Given the description of an element on the screen output the (x, y) to click on. 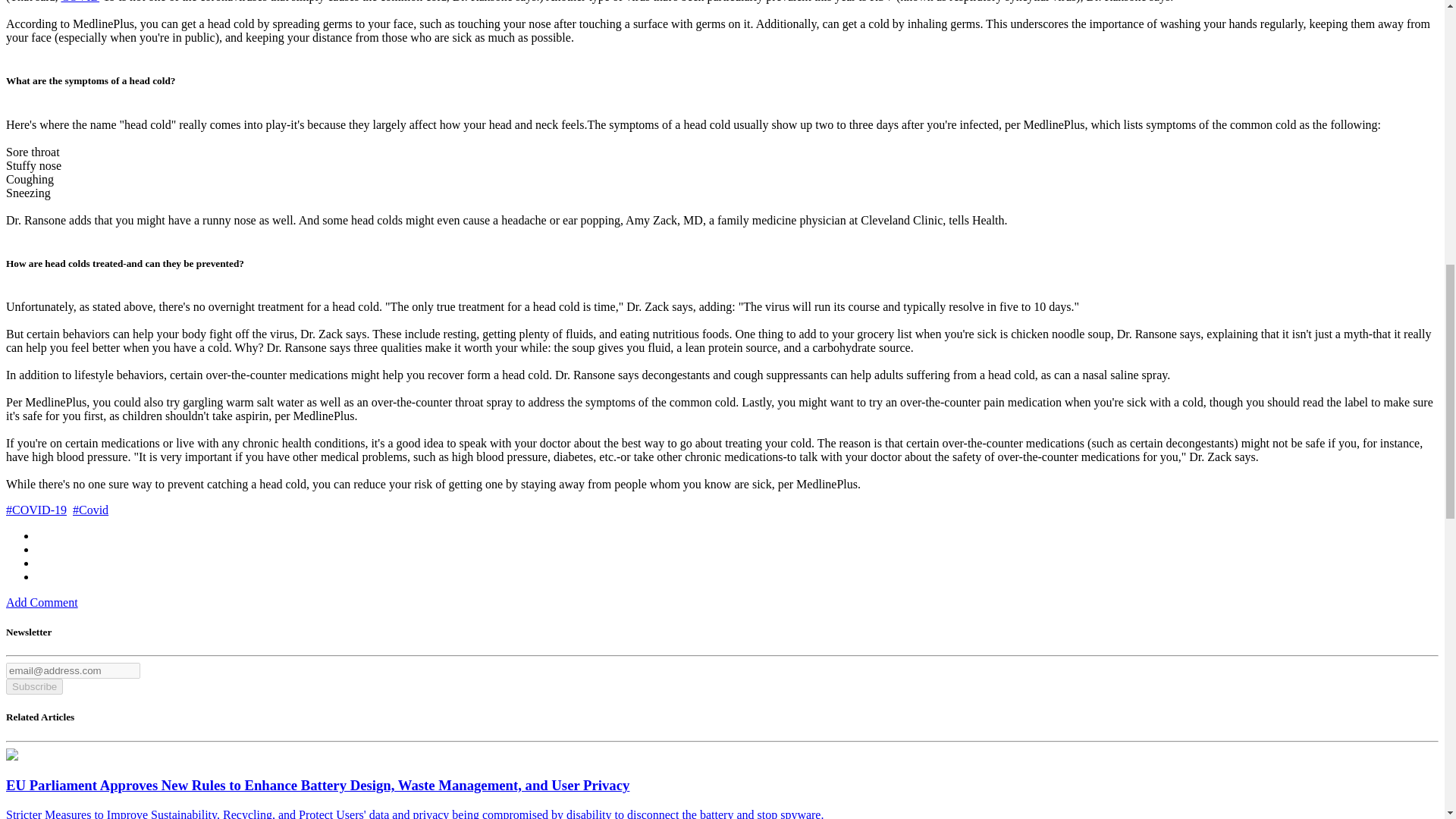
COVID (80, 1)
Add Comment (41, 602)
Subscribe (33, 686)
